Given the description of an element on the screen output the (x, y) to click on. 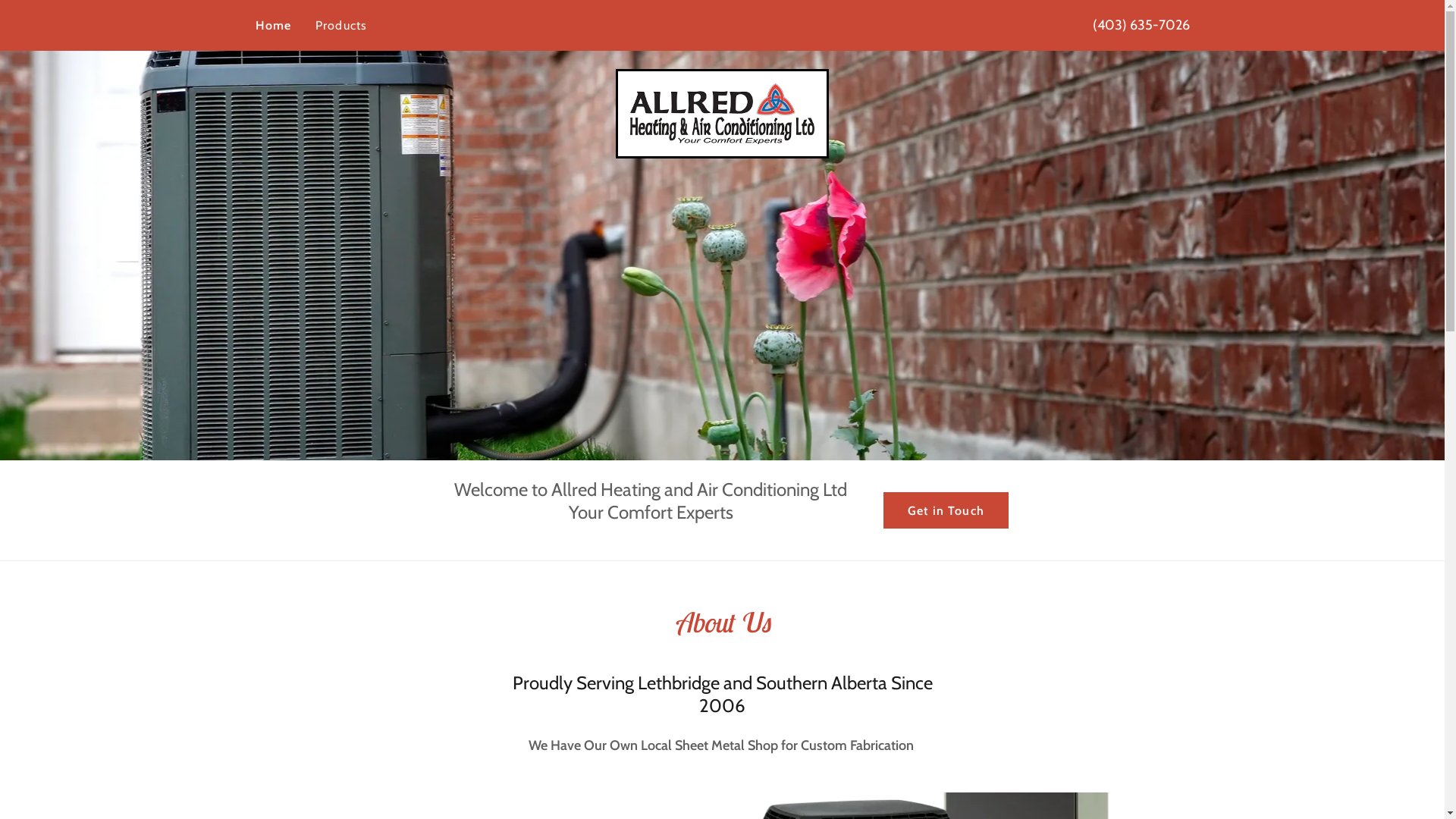
(403) 635-7026 Element type: text (1140, 24)
Get in Touch Element type: text (945, 510)
Allred Heating and Air Conditioning Ltd Element type: hover (722, 111)
Home Element type: text (272, 25)
Products Element type: text (340, 25)
